Given the description of an element on the screen output the (x, y) to click on. 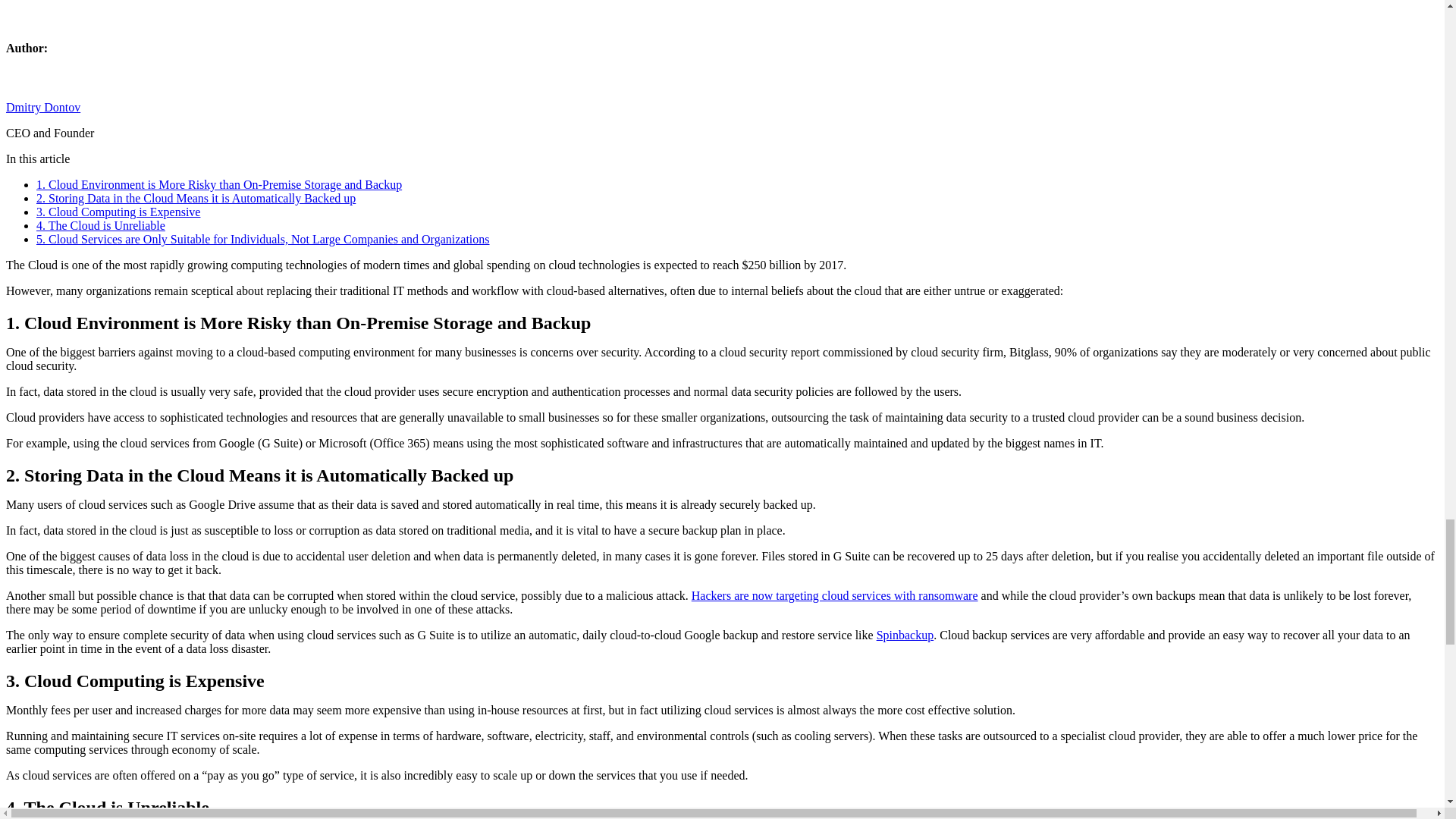
Posts by Dmitry Dontov (42, 106)
